Given the description of an element on the screen output the (x, y) to click on. 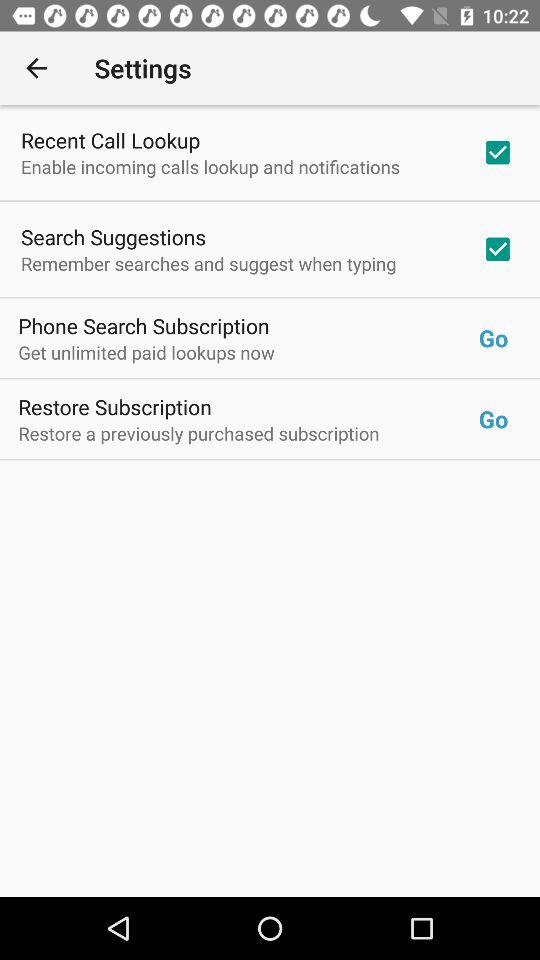
launch the item to the left of the settings (36, 68)
